Given the description of an element on the screen output the (x, y) to click on. 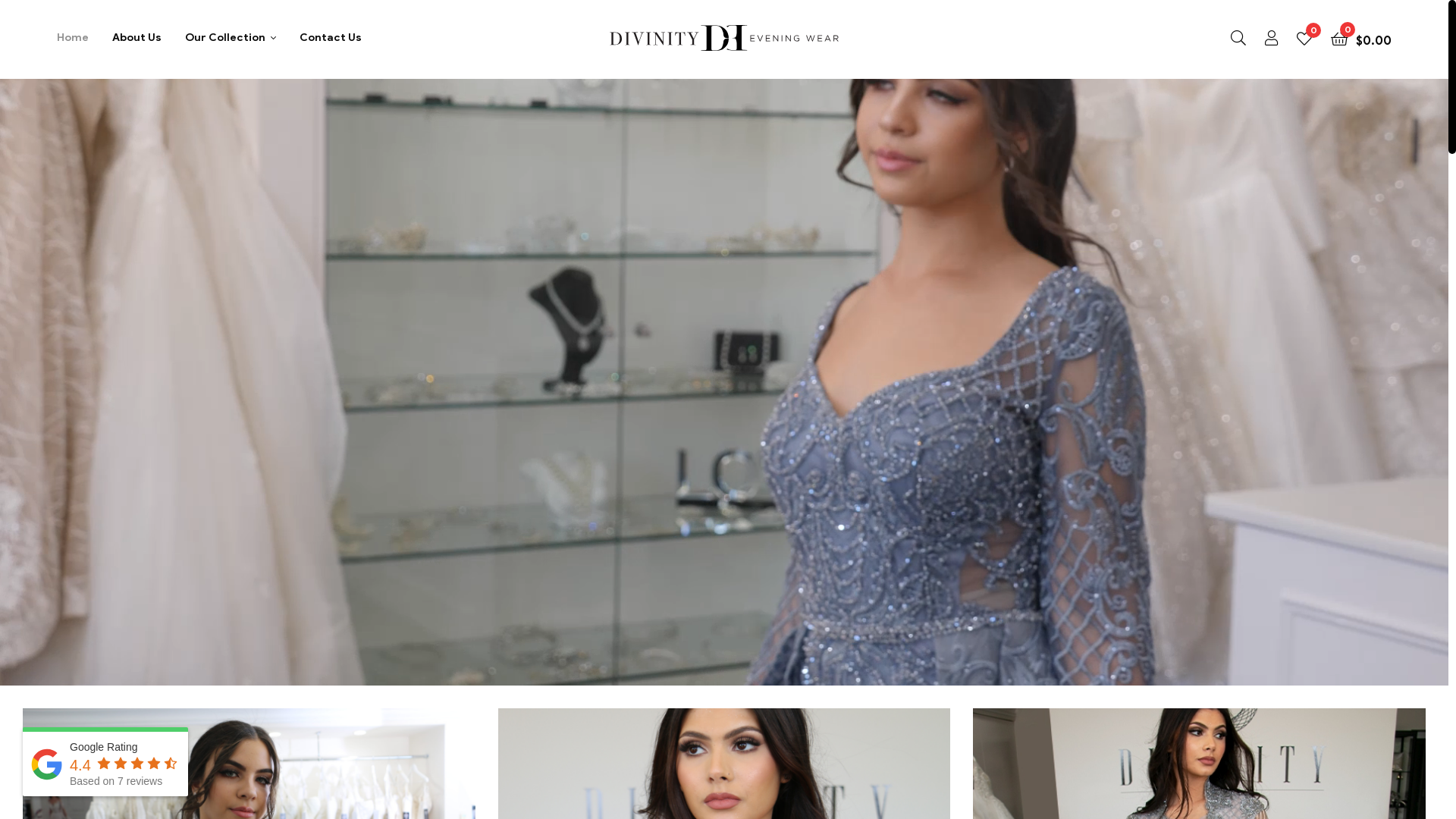
Search Element type: text (859, 253)
0 Element type: text (1303, 37)
0
$0.00 Element type: text (1360, 37)
Home Element type: text (72, 37)
Our Collection Element type: text (230, 37)
About Us Element type: text (136, 37)
Contact Us Element type: text (330, 37)
